Given the description of an element on the screen output the (x, y) to click on. 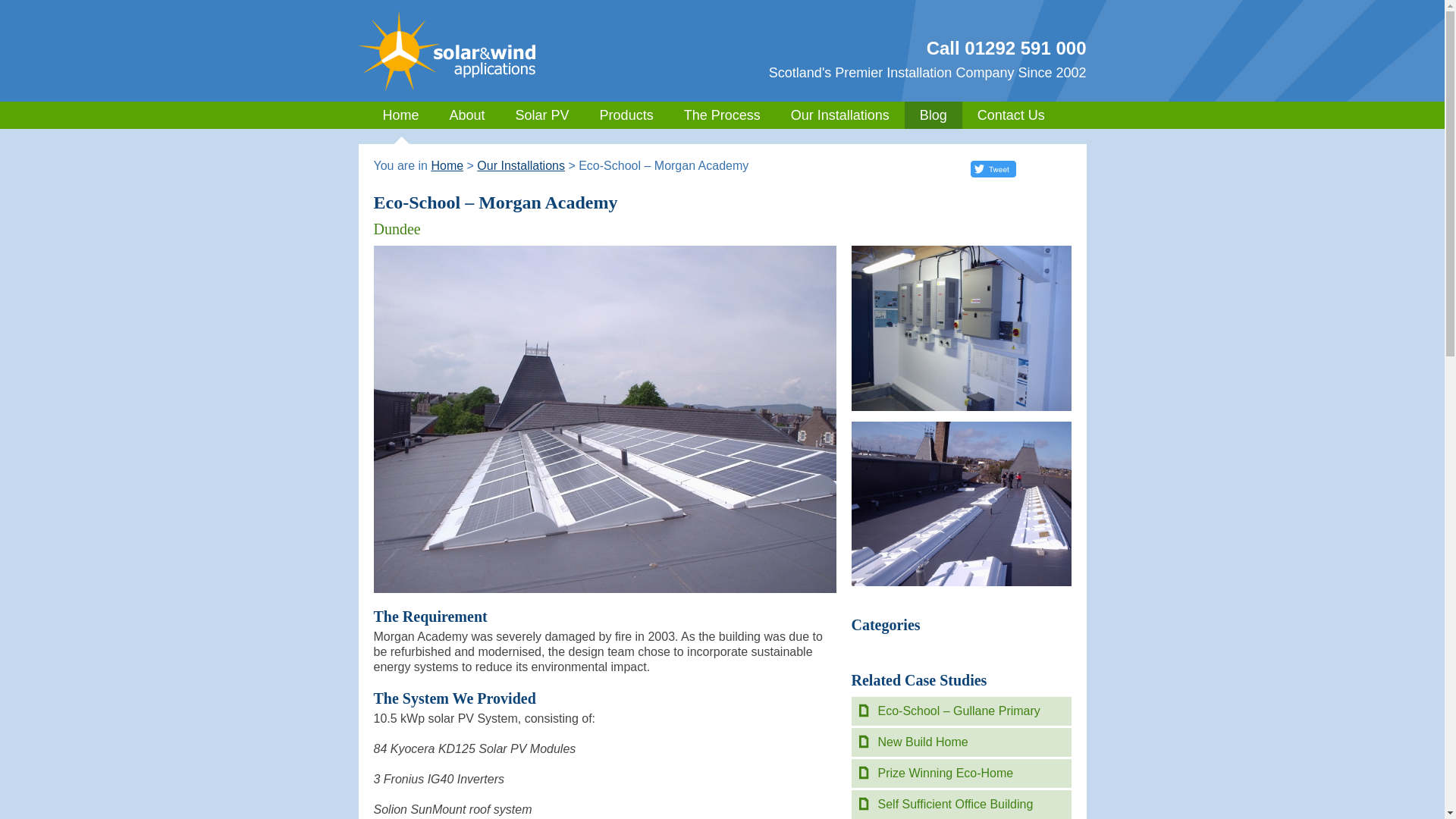
Solar PV (542, 114)
About (466, 114)
Contact Us (1010, 114)
Our Installations (520, 164)
Products (626, 114)
Our Installations (840, 114)
Home (446, 164)
New Build Home (922, 741)
Self Sufficient Office Building (955, 803)
The Process (722, 114)
Home (399, 114)
Prize Winning Eco-Home (945, 772)
Blog (933, 114)
